Given the description of an element on the screen output the (x, y) to click on. 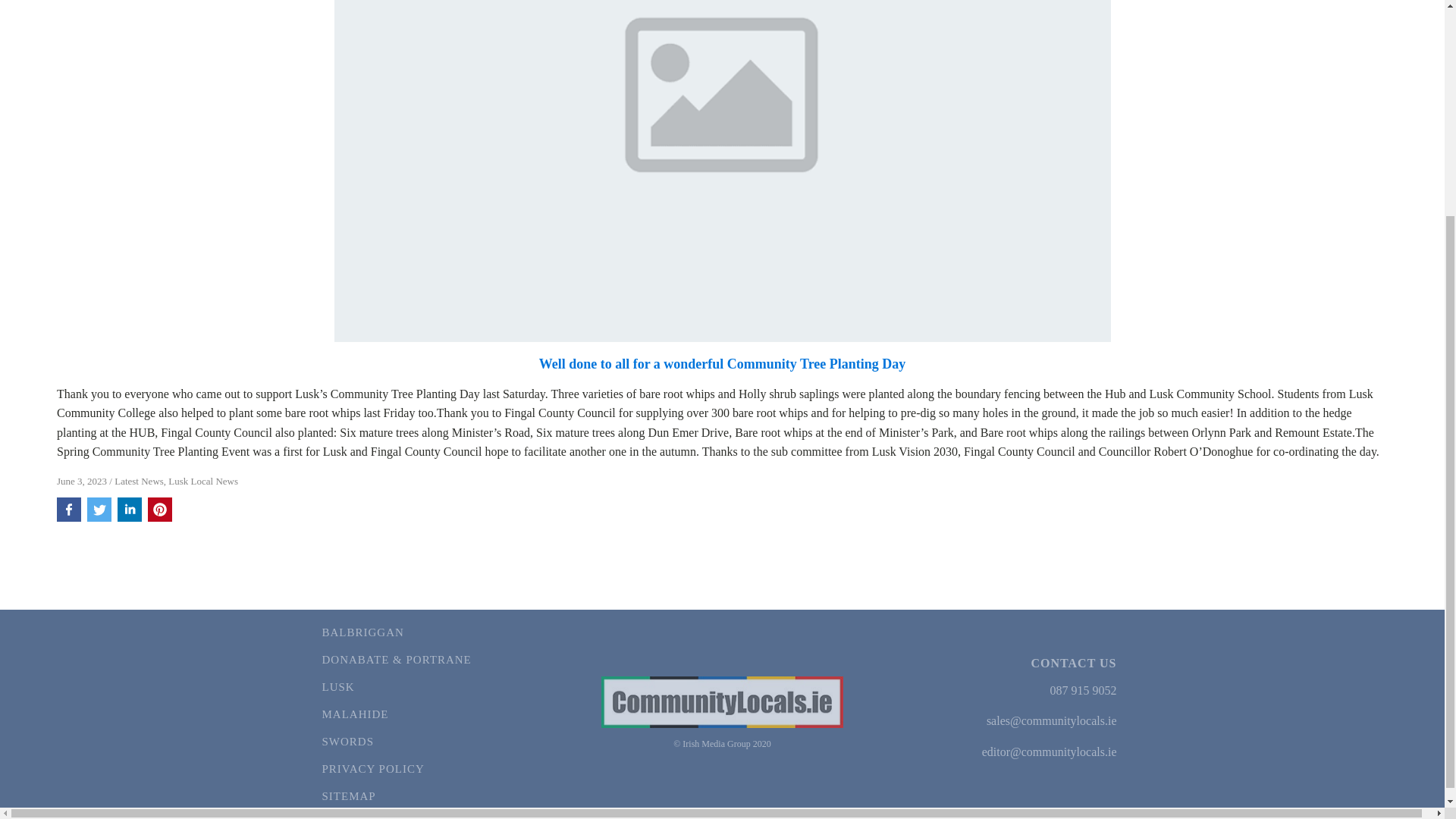
087 915 9052 (1082, 690)
Latest News (139, 480)
MALAHIDE (396, 714)
CONTACT US (1073, 663)
Well done to all for a wonderful Community Tree Planting Day (721, 364)
BALBRIGGAN (396, 632)
SITEMAP (396, 795)
PRIVACY POLICY (396, 768)
LUSK (396, 687)
SWORDS (396, 741)
